Given the description of an element on the screen output the (x, y) to click on. 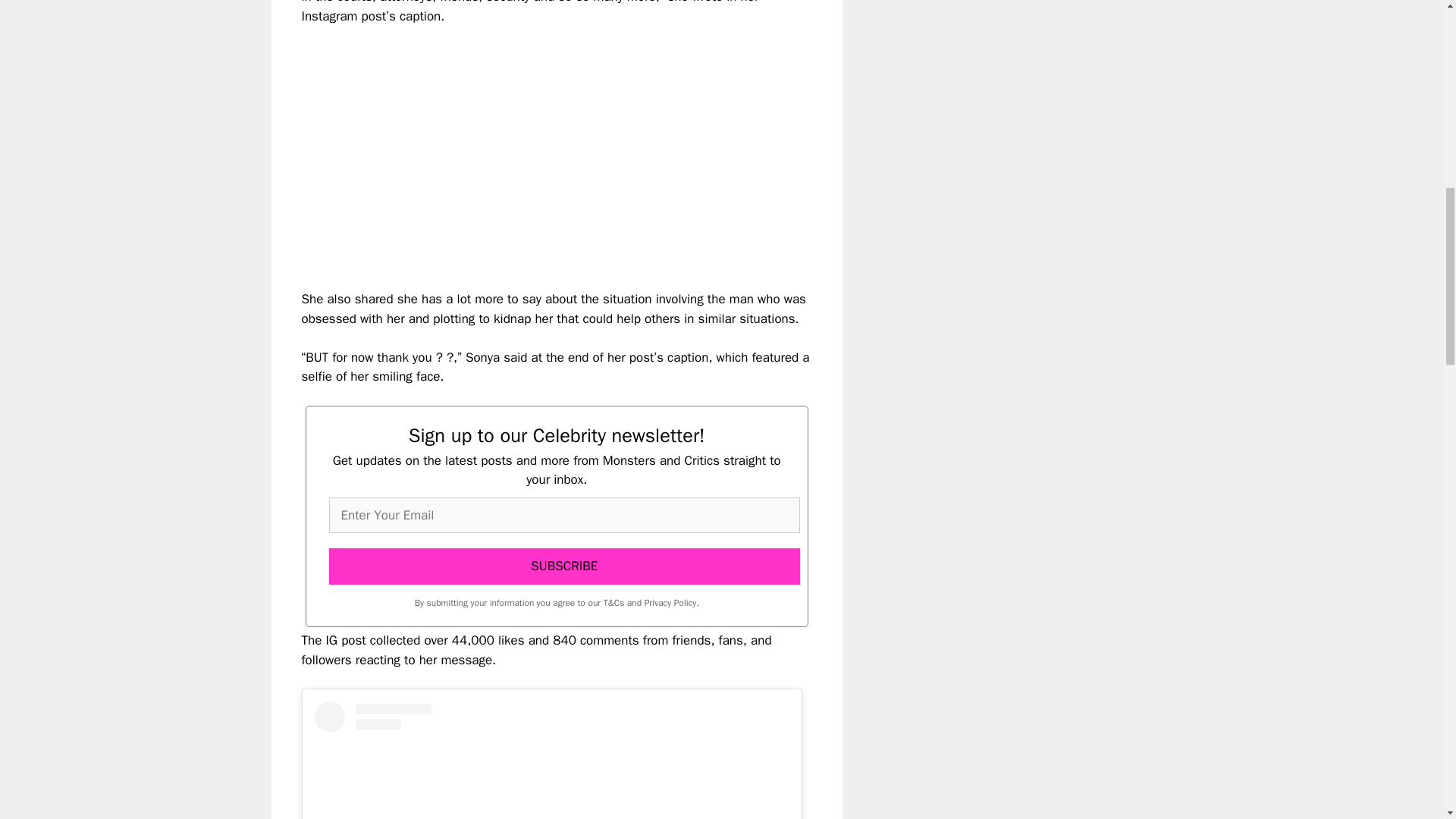
SUBSCRIBE (564, 565)
SUBSCRIBE (564, 565)
View this post on Instagram (551, 760)
YouTube video player (513, 144)
